Given the description of an element on the screen output the (x, y) to click on. 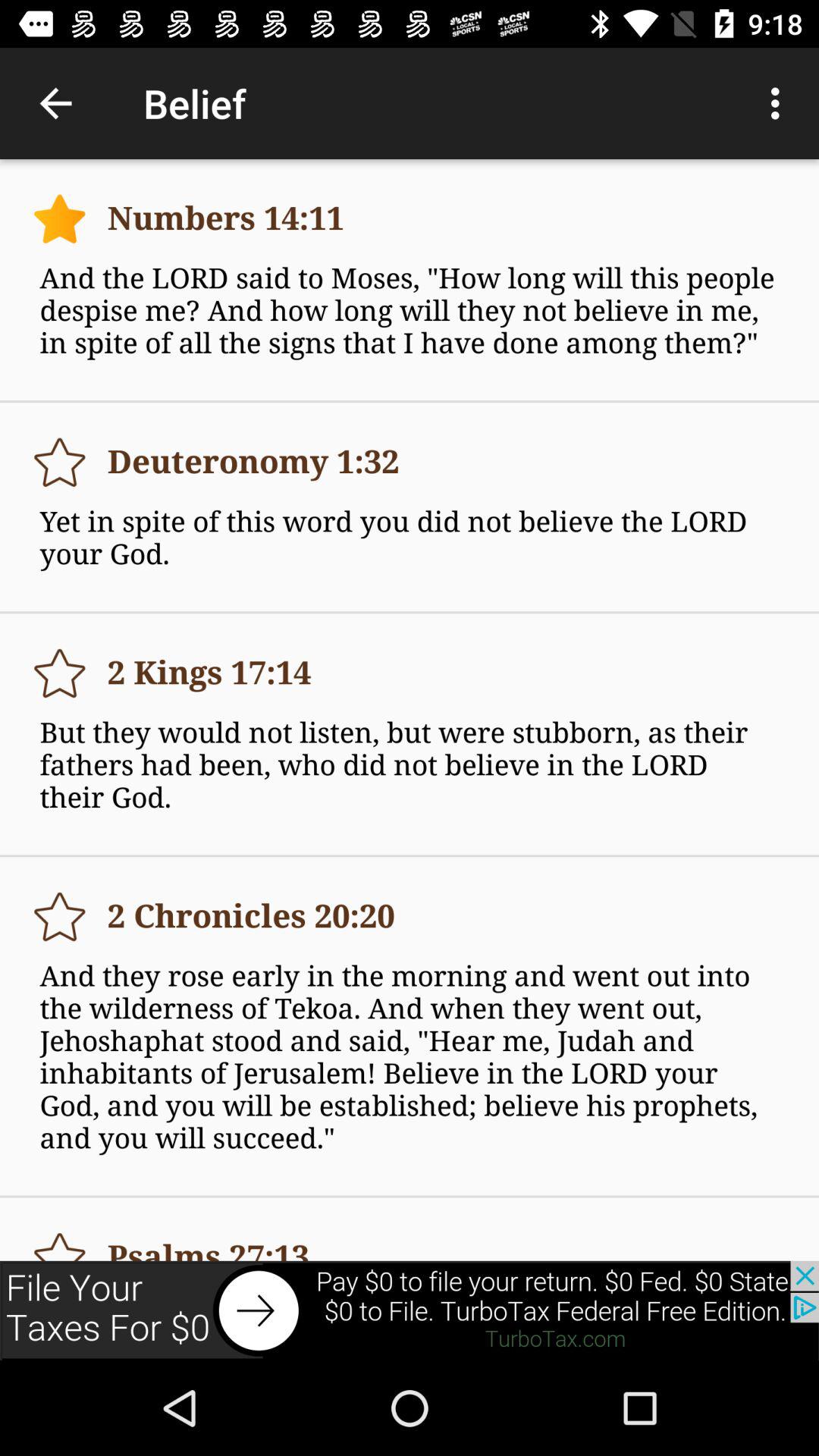
go to simple page (59, 218)
